Given the description of an element on the screen output the (x, y) to click on. 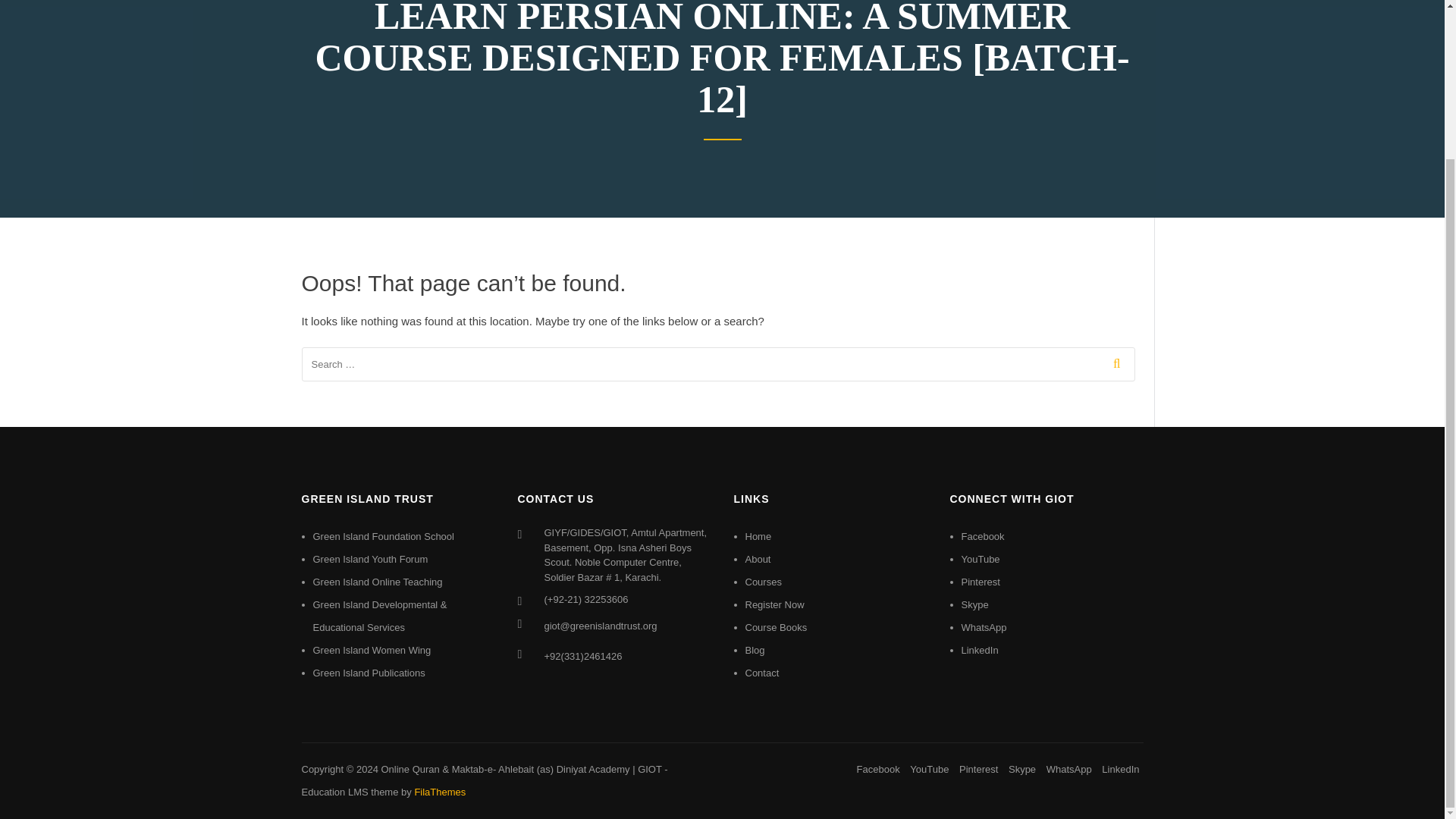
Green Island Women Wing (371, 650)
About (757, 559)
Green Island Youth Forum (370, 559)
Skype (974, 604)
Green Island Foundation School (382, 536)
Contact (761, 672)
YouTube (980, 559)
WhatsApp (983, 627)
Blog (754, 650)
Courses (762, 582)
Home (757, 536)
Green Island Publications (369, 672)
Course Books (775, 627)
Pinterest (980, 582)
Register Now (773, 604)
